Given the description of an element on the screen output the (x, y) to click on. 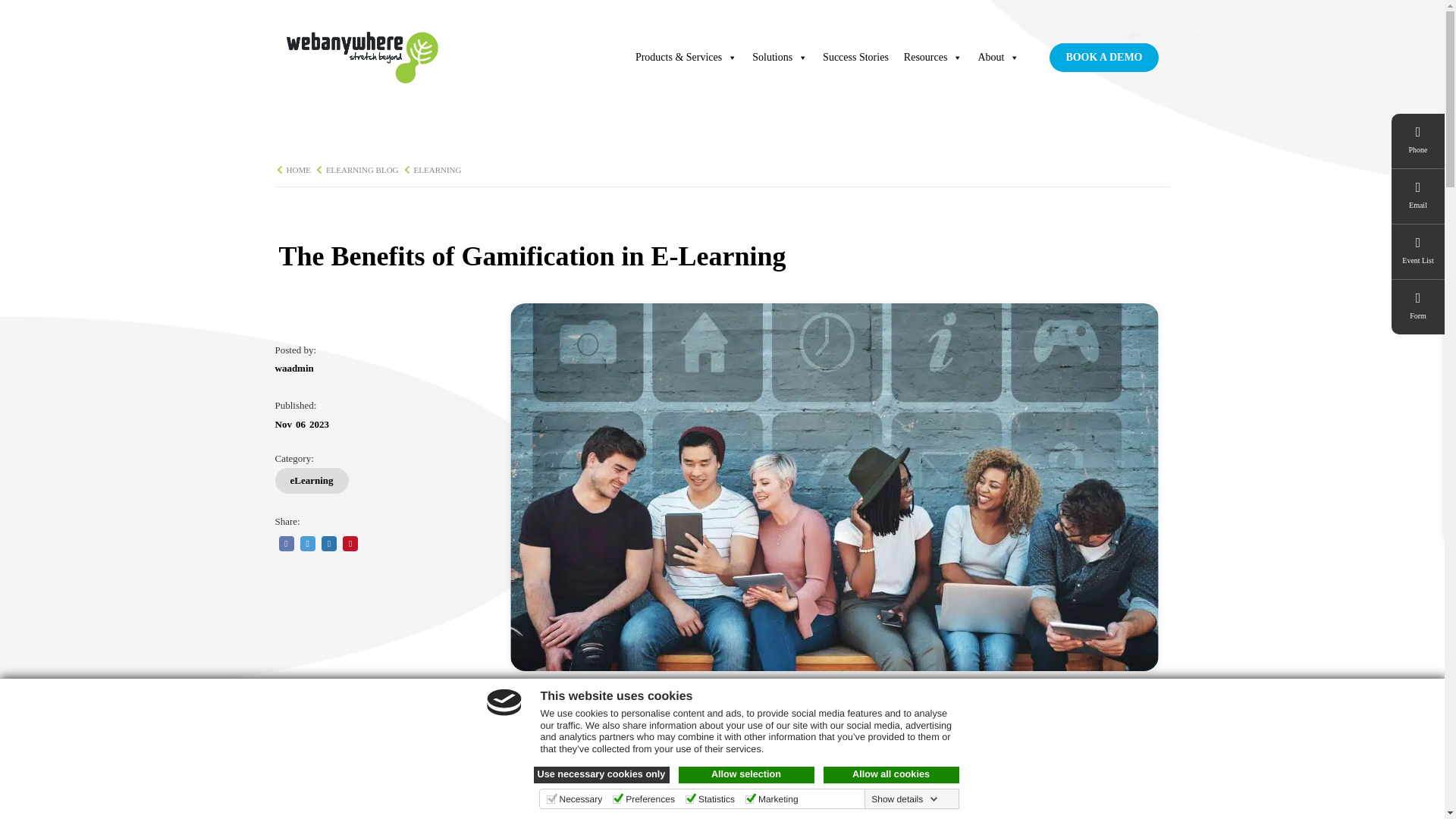
Use necessary cookies only (601, 774)
Show details (903, 799)
Allow selection (745, 774)
Allow all cookies (891, 774)
